Given the description of an element on the screen output the (x, y) to click on. 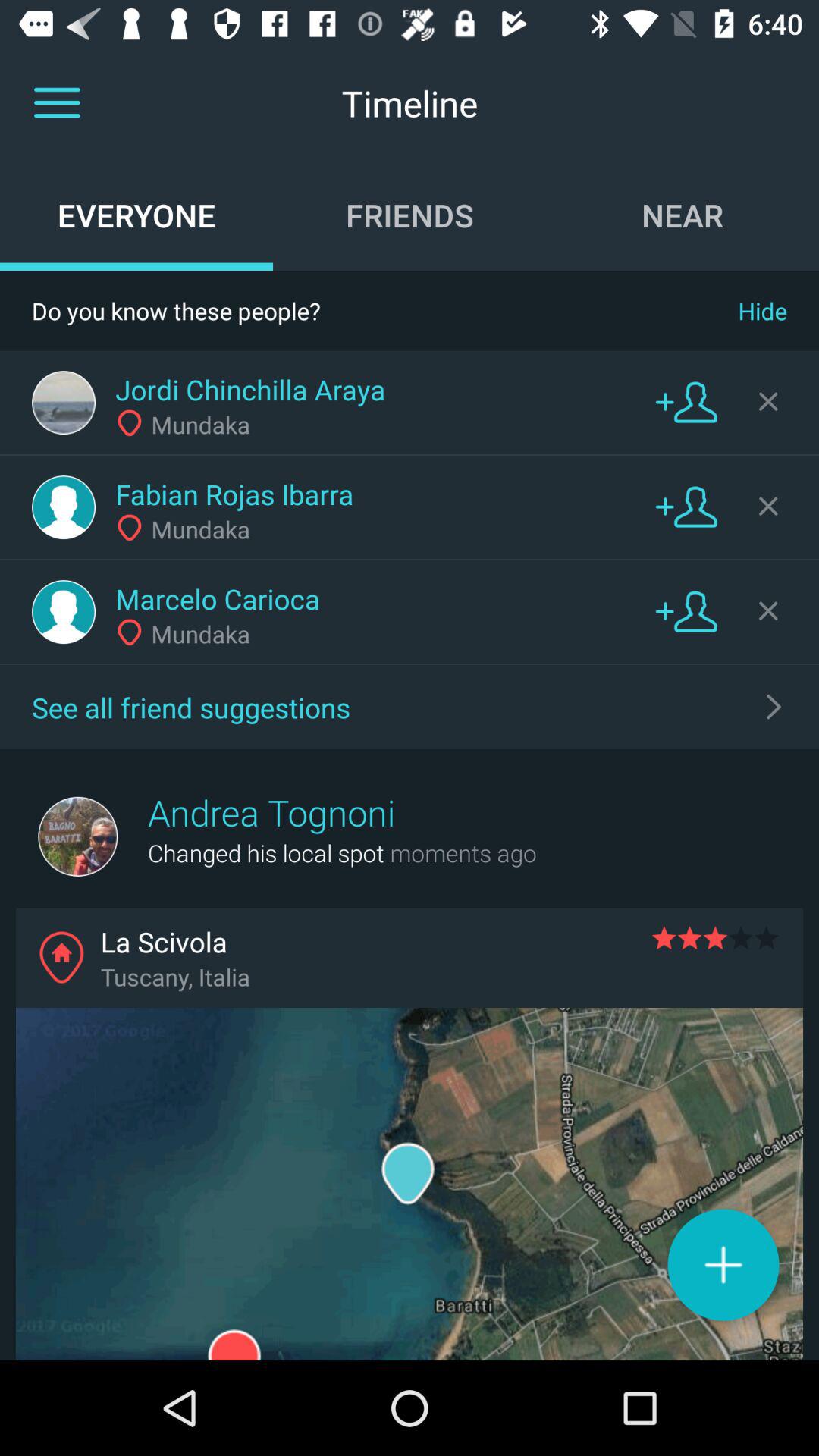
remove friend suggestion (768, 401)
